Given the description of an element on the screen output the (x, y) to click on. 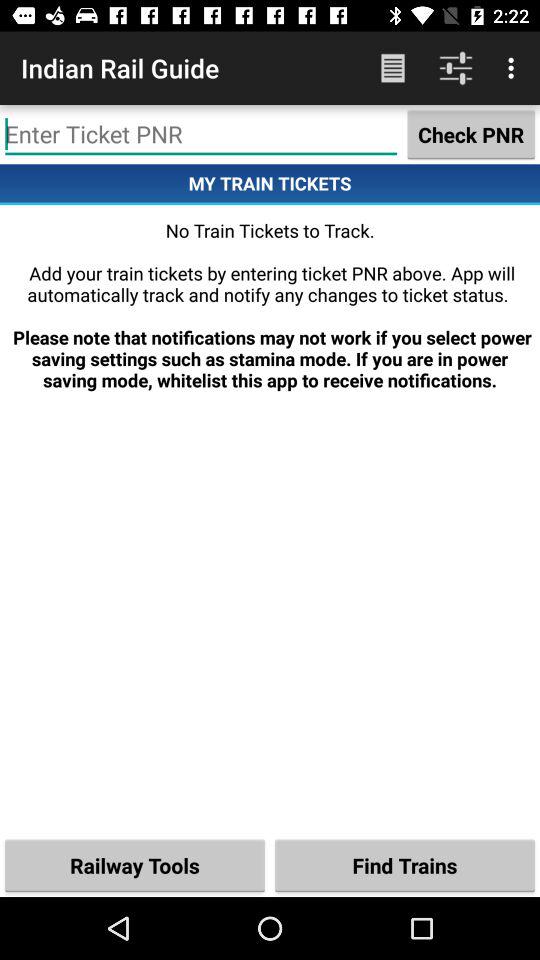
open icon above the check pnr (513, 67)
